Given the description of an element on the screen output the (x, y) to click on. 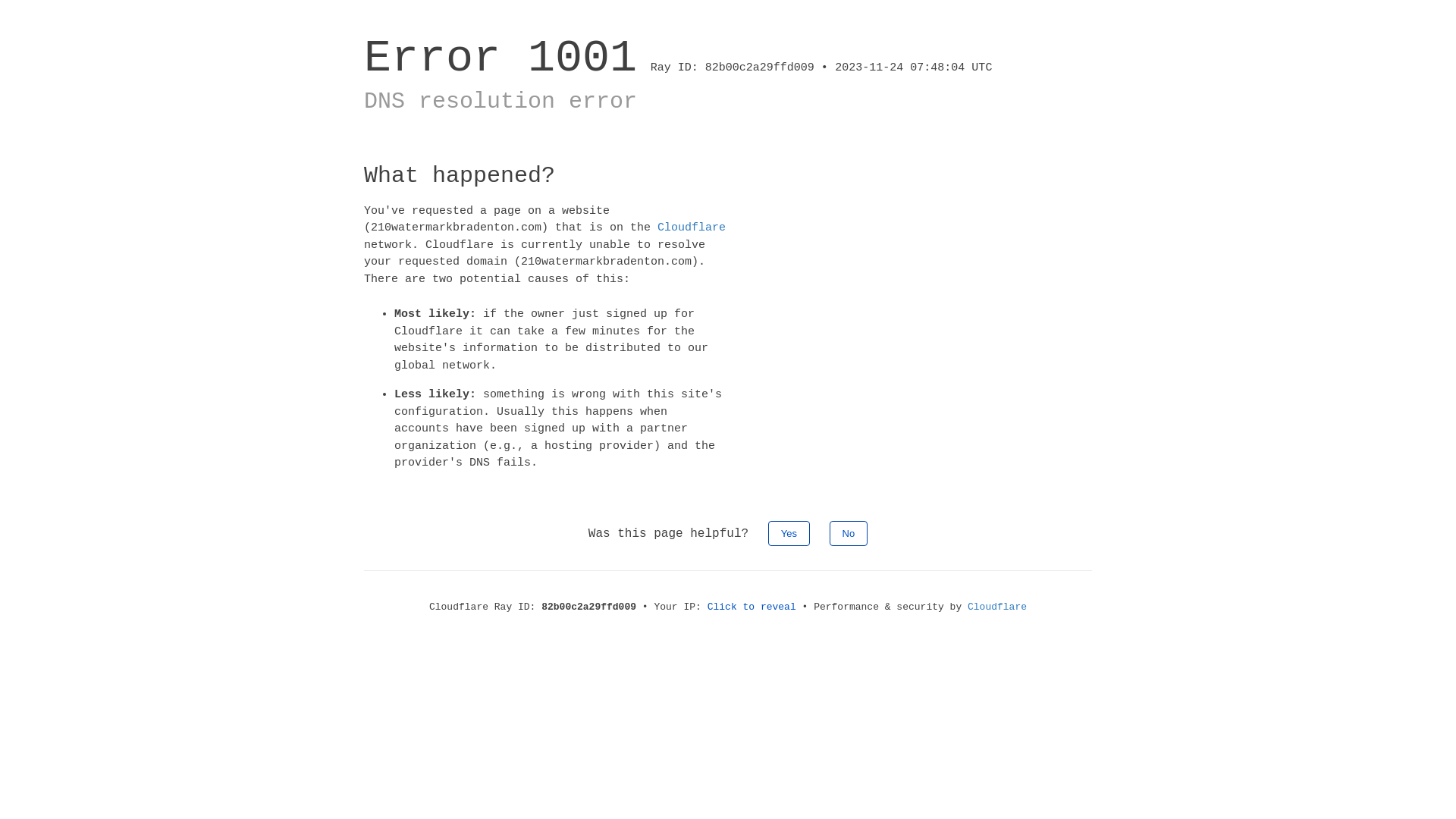
No Element type: text (848, 532)
Yes Element type: text (788, 532)
Cloudflare Element type: text (996, 605)
Cloudflare Element type: text (691, 227)
Click to reveal Element type: text (751, 605)
